Given the description of an element on the screen output the (x, y) to click on. 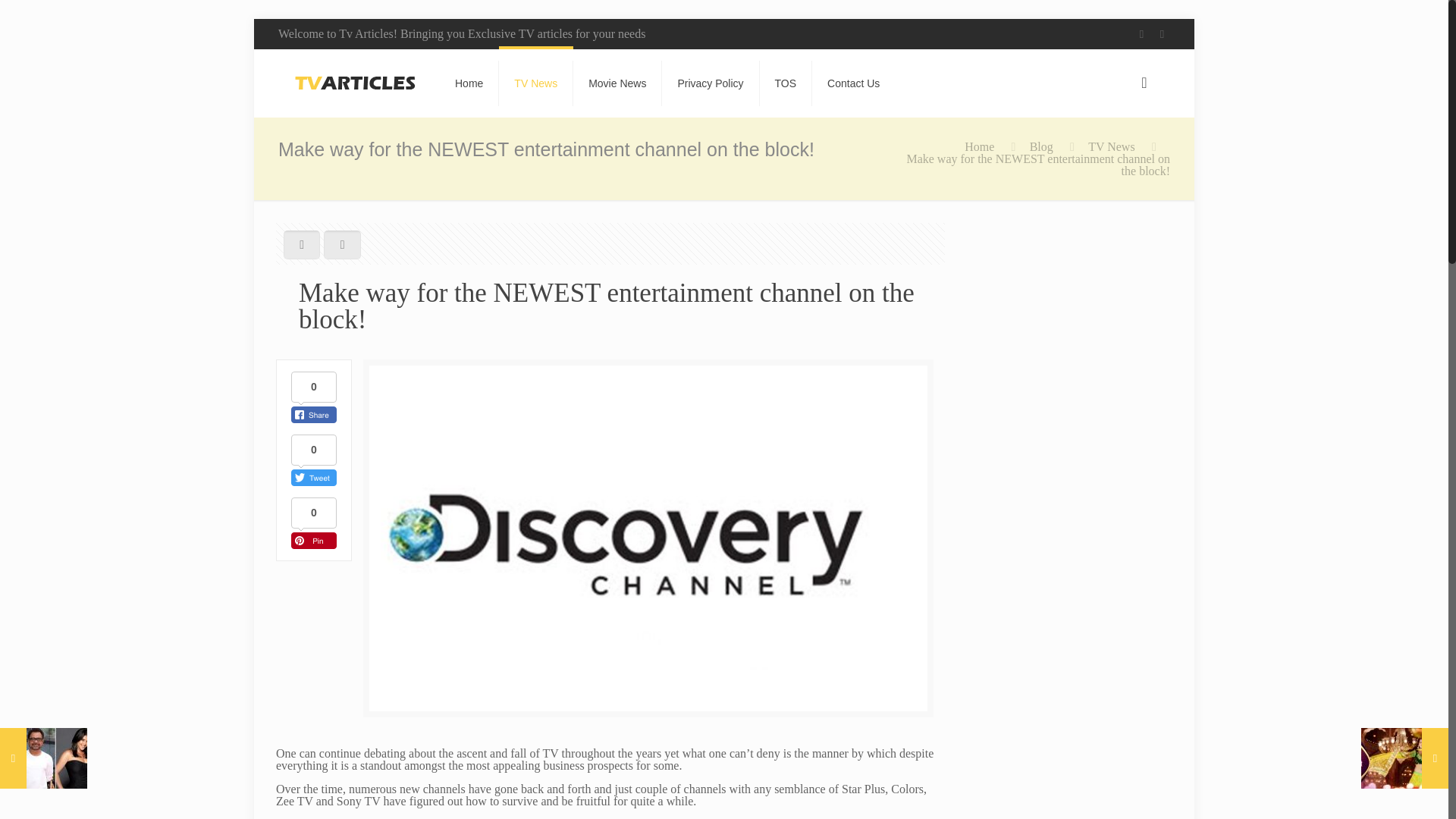
Movie News (617, 83)
Blog (1040, 146)
Facebook (1142, 33)
Contact Us (853, 83)
Privacy Policy (710, 83)
Pinterest (1162, 33)
TV News (1110, 146)
TvArticles.ME (355, 83)
TV News (536, 83)
Home (978, 146)
